Given the description of an element on the screen output the (x, y) to click on. 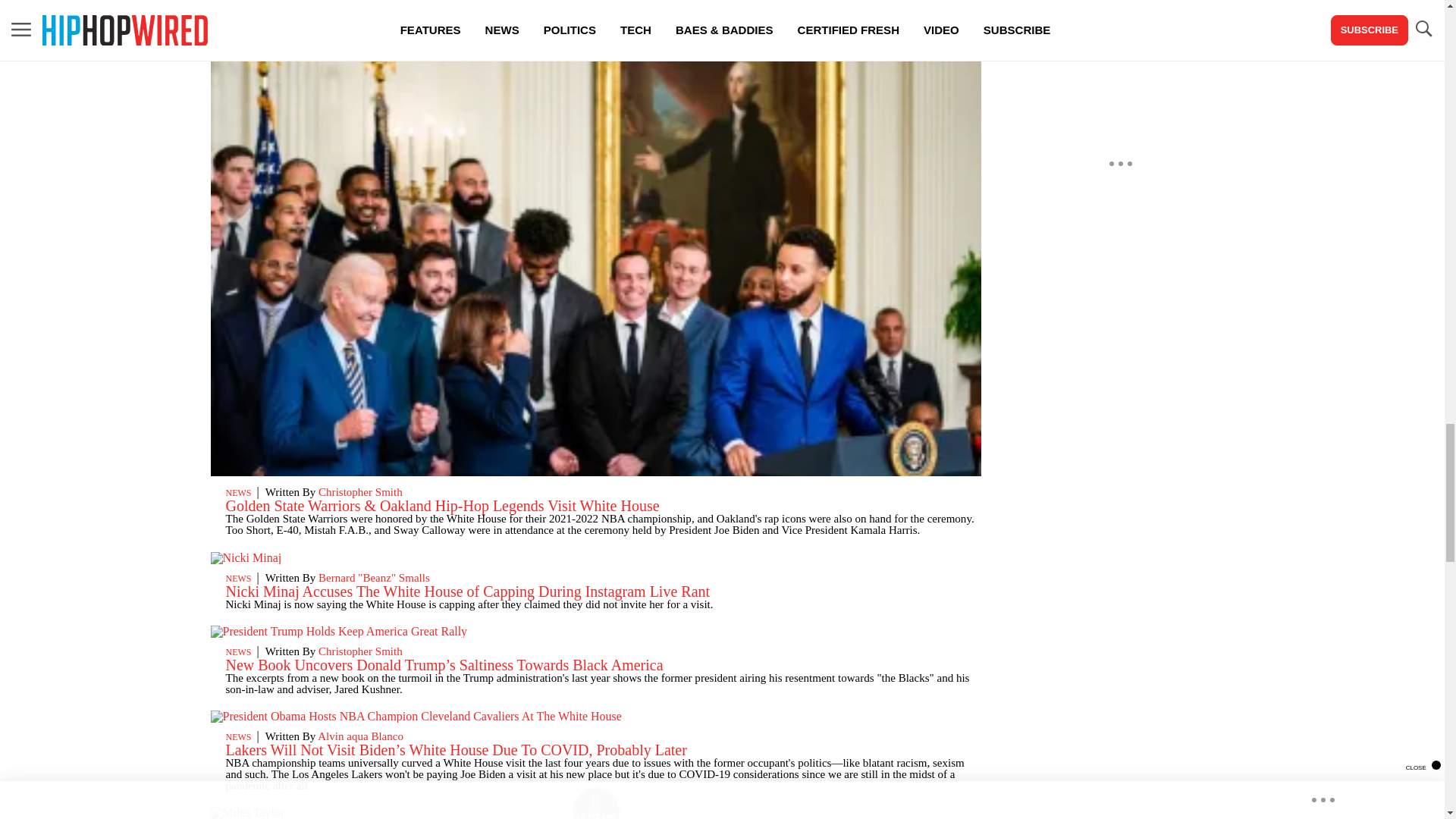
NEWS (238, 578)
Media Playlist (596, 801)
NEWS (238, 492)
Christopher Smith (360, 491)
